Given the description of an element on the screen output the (x, y) to click on. 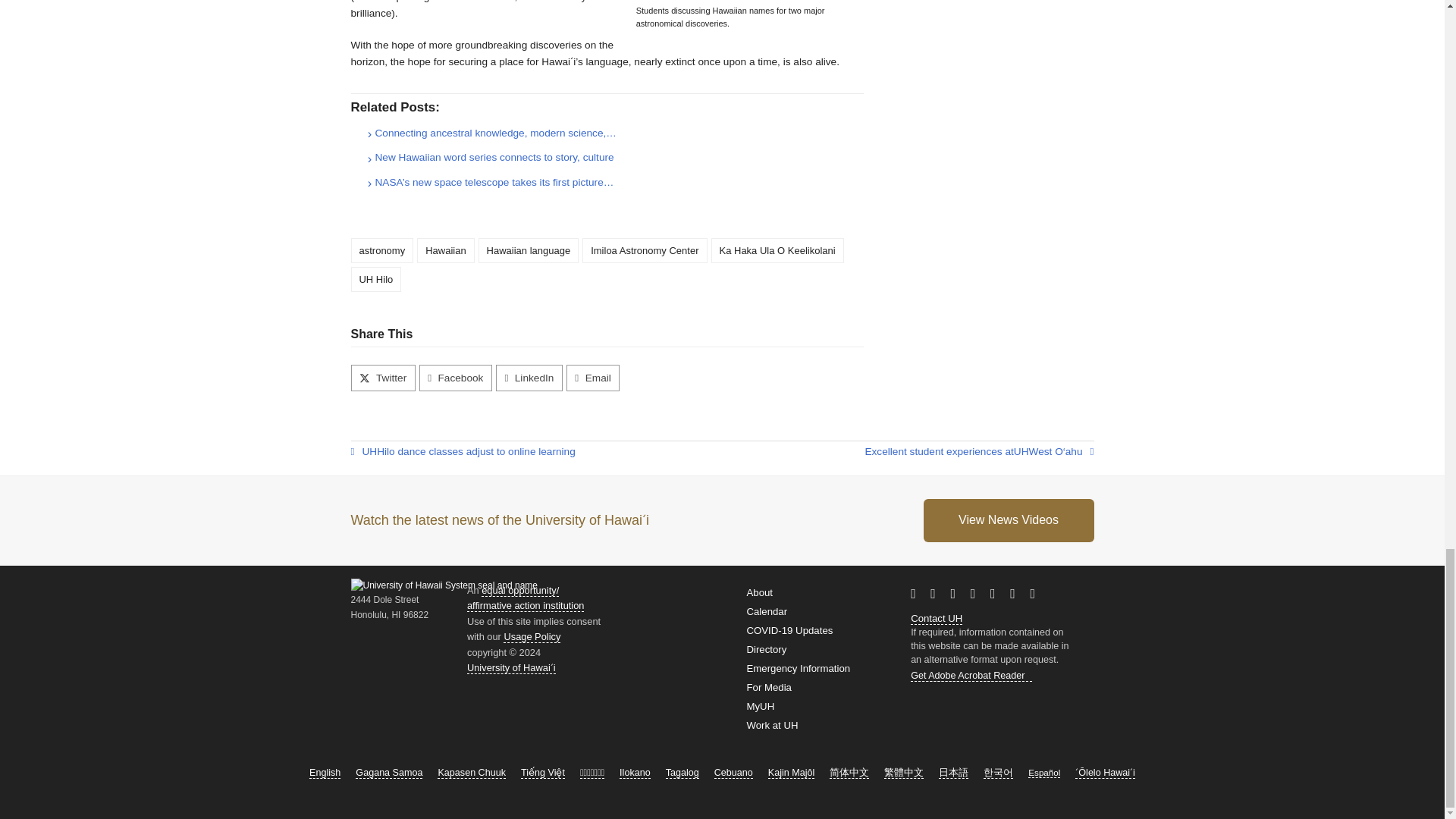
UH System home (511, 667)
University of Hawaii (1021, 451)
University of Hawaii (954, 618)
University of Hawaii (369, 451)
